Given the description of an element on the screen output the (x, y) to click on. 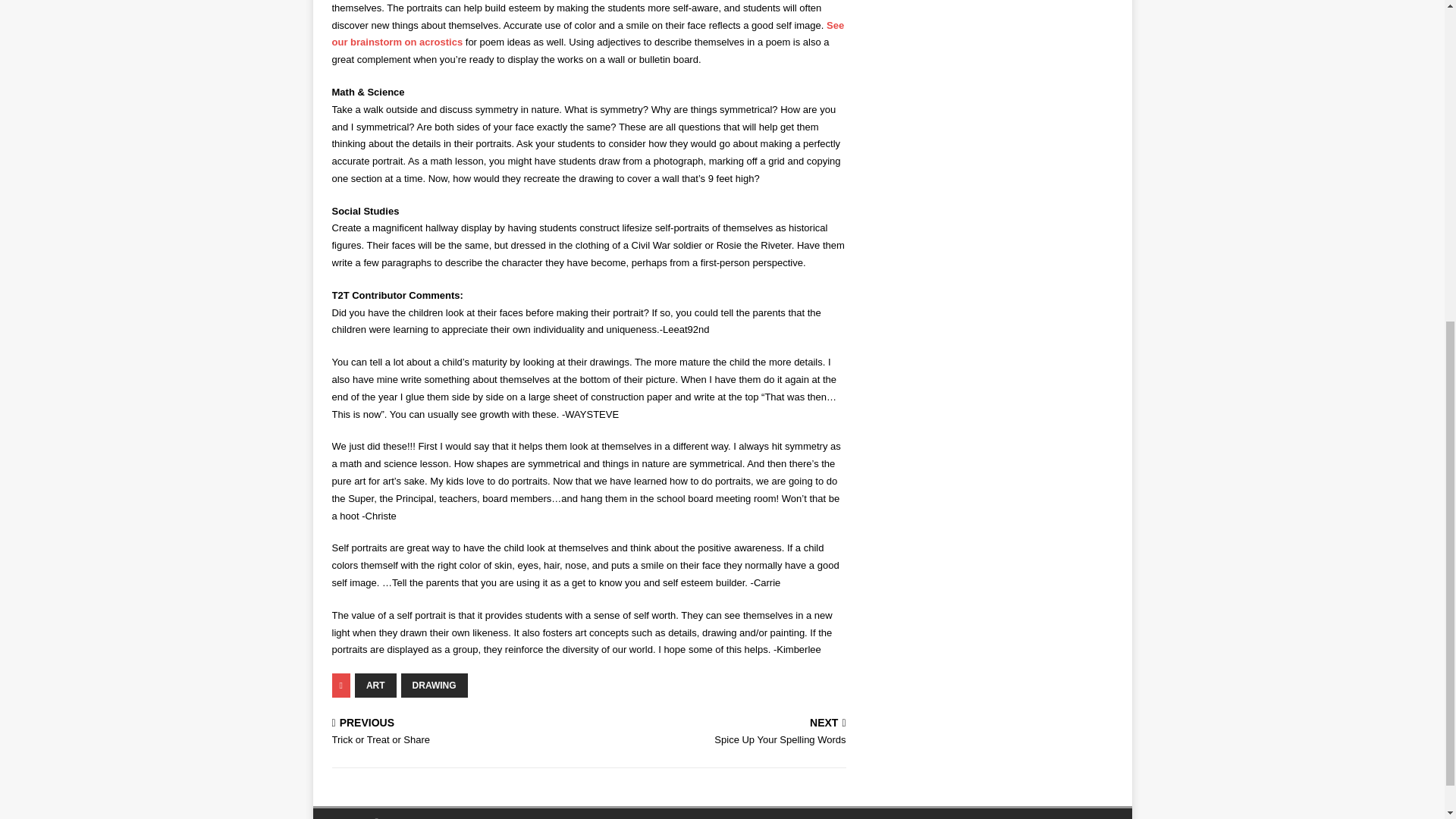
ART (457, 732)
See our brainstorm on acrostics (720, 732)
DRAWING (375, 685)
